Given the description of an element on the screen output the (x, y) to click on. 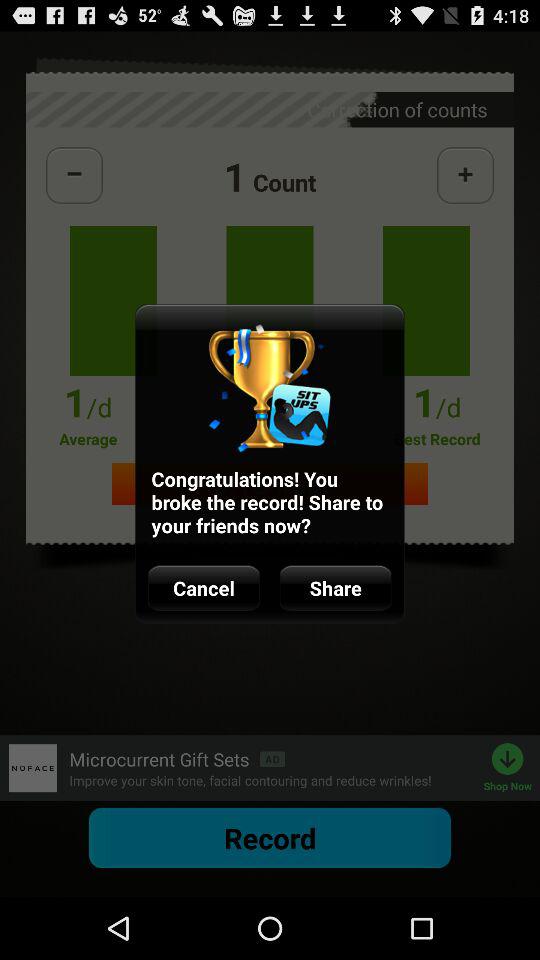
press app below the congratulations you broke icon (203, 588)
